Given the description of an element on the screen output the (x, y) to click on. 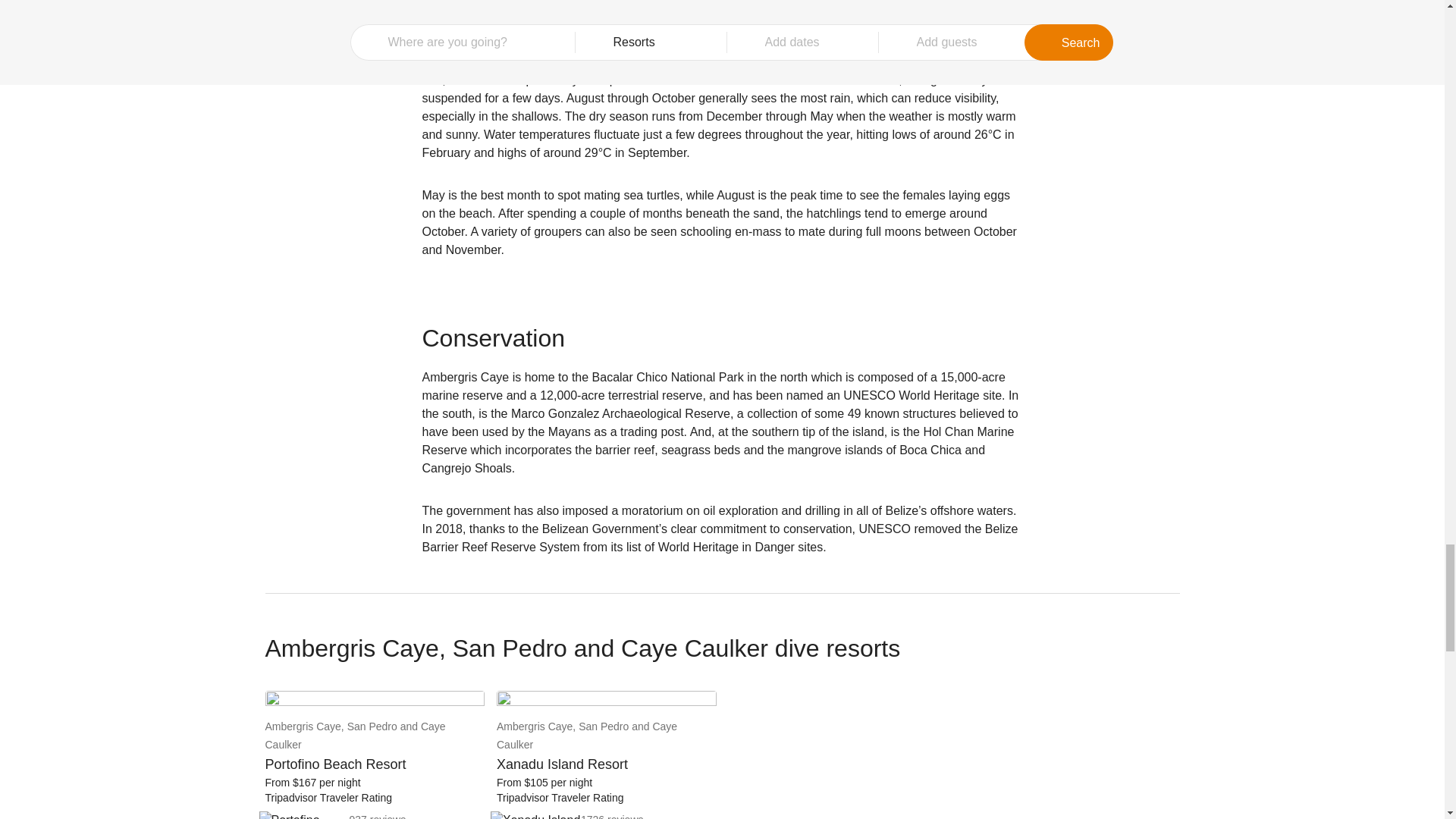
Tripadvisor Traveler Rating (374, 797)
Portofino Beach Resort (374, 797)
Xanadu Island Resort (606, 797)
Xanadu Island Resort (538, 815)
Xanadu Island Resort (606, 701)
Portofino Beach Resort (374, 701)
937 reviews (377, 816)
1726 reviews (611, 816)
Xanadu Island Resort (606, 753)
Portofino Beach Resort (374, 753)
Tripadvisor Traveler Rating (606, 797)
Portofino Beach Resort (306, 815)
